Given the description of an element on the screen output the (x, y) to click on. 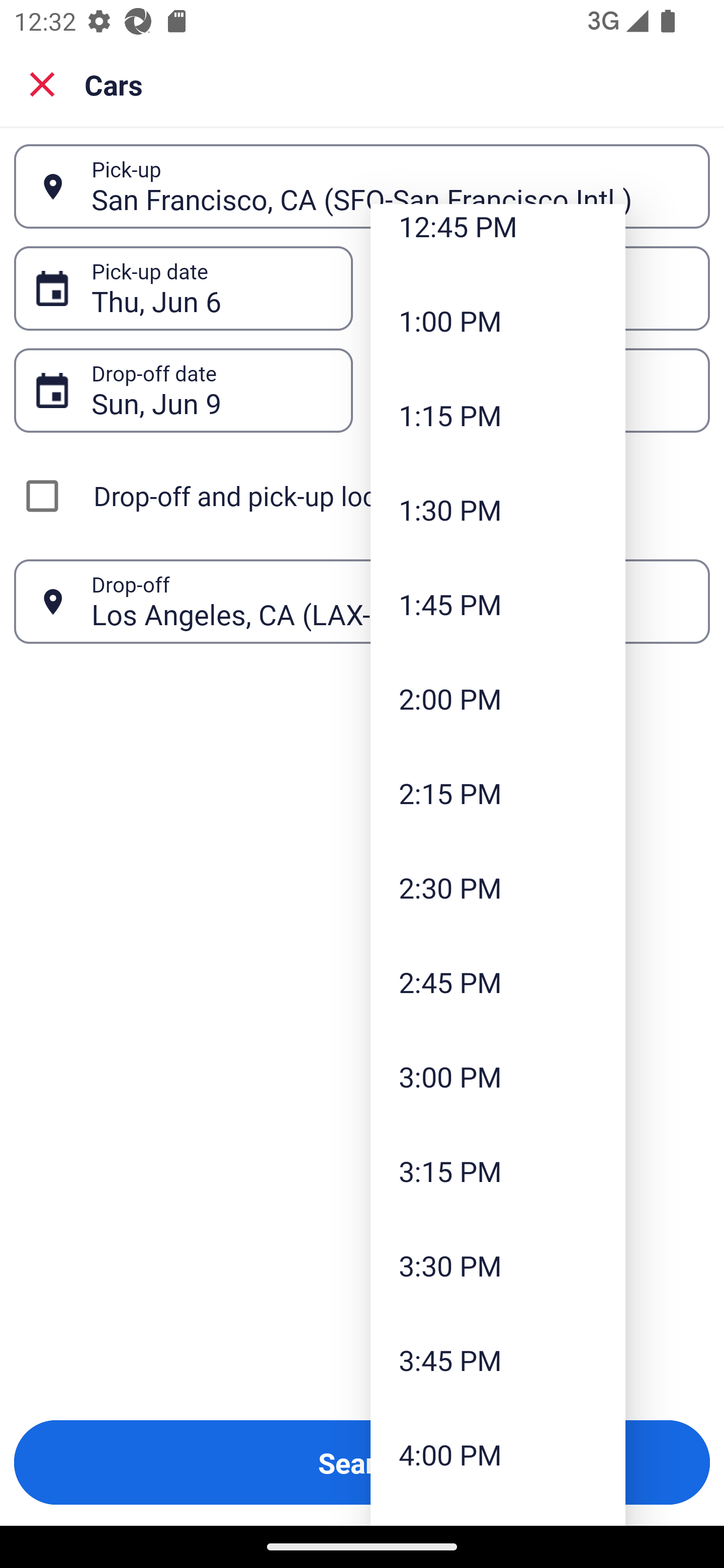
12:45 PM (497, 237)
1:00 PM (497, 320)
1:15 PM (497, 415)
1:30 PM (497, 509)
1:45 PM (497, 603)
2:00 PM (497, 698)
2:15 PM (497, 793)
2:30 PM (497, 887)
2:45 PM (497, 981)
3:00 PM (497, 1076)
3:15 PM (497, 1171)
3:30 PM (497, 1265)
3:45 PM (497, 1359)
4:00 PM (497, 1454)
